Given the description of an element on the screen output the (x, y) to click on. 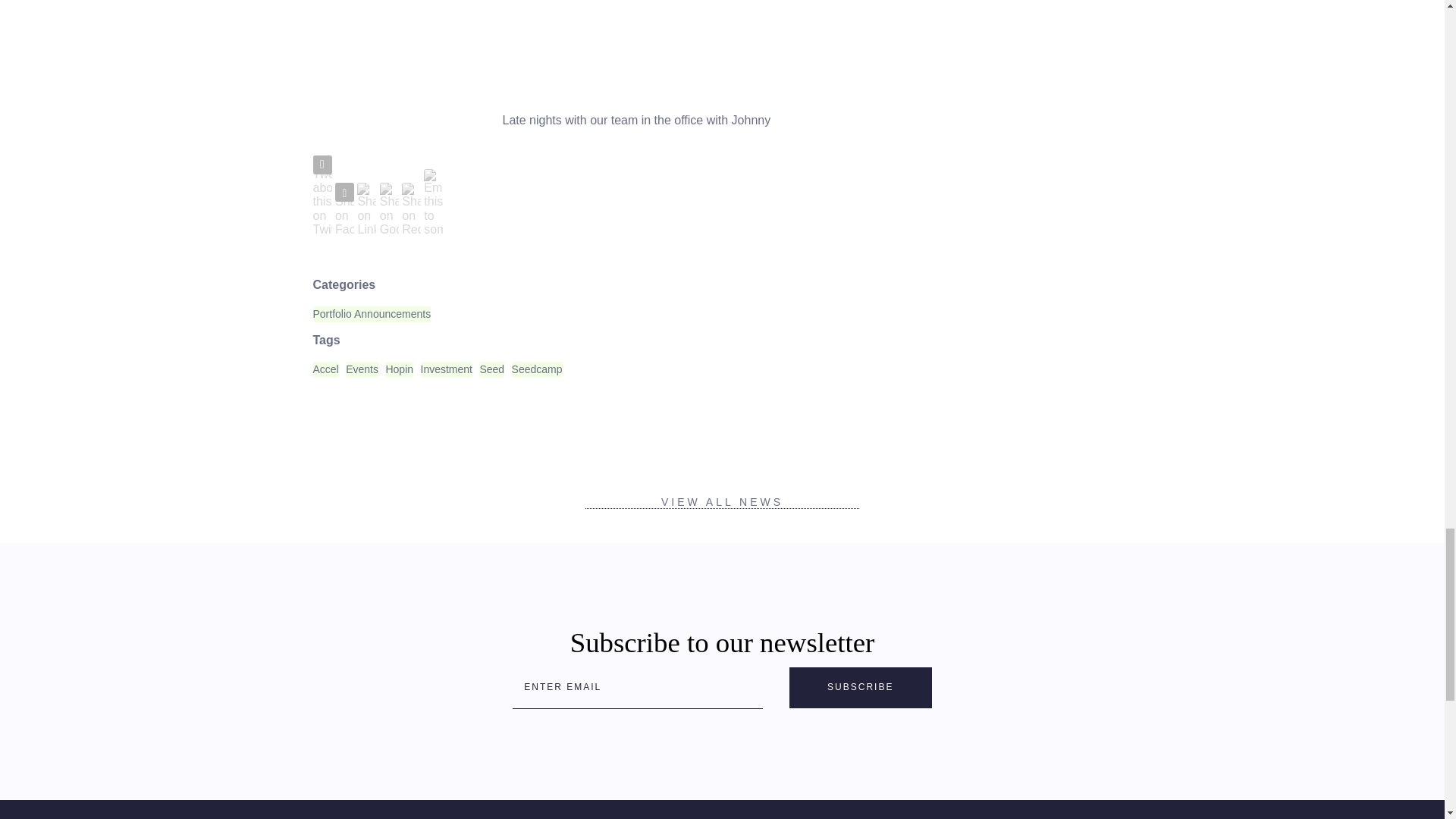
Seedcamp (537, 369)
Events (362, 369)
Hopin (399, 369)
VIEW ALL NEWS (722, 501)
Accel (325, 369)
Portfolio Announcements (371, 314)
SUBSCRIBE (860, 687)
Investment (445, 369)
Seed (491, 369)
